Given the description of an element on the screen output the (x, y) to click on. 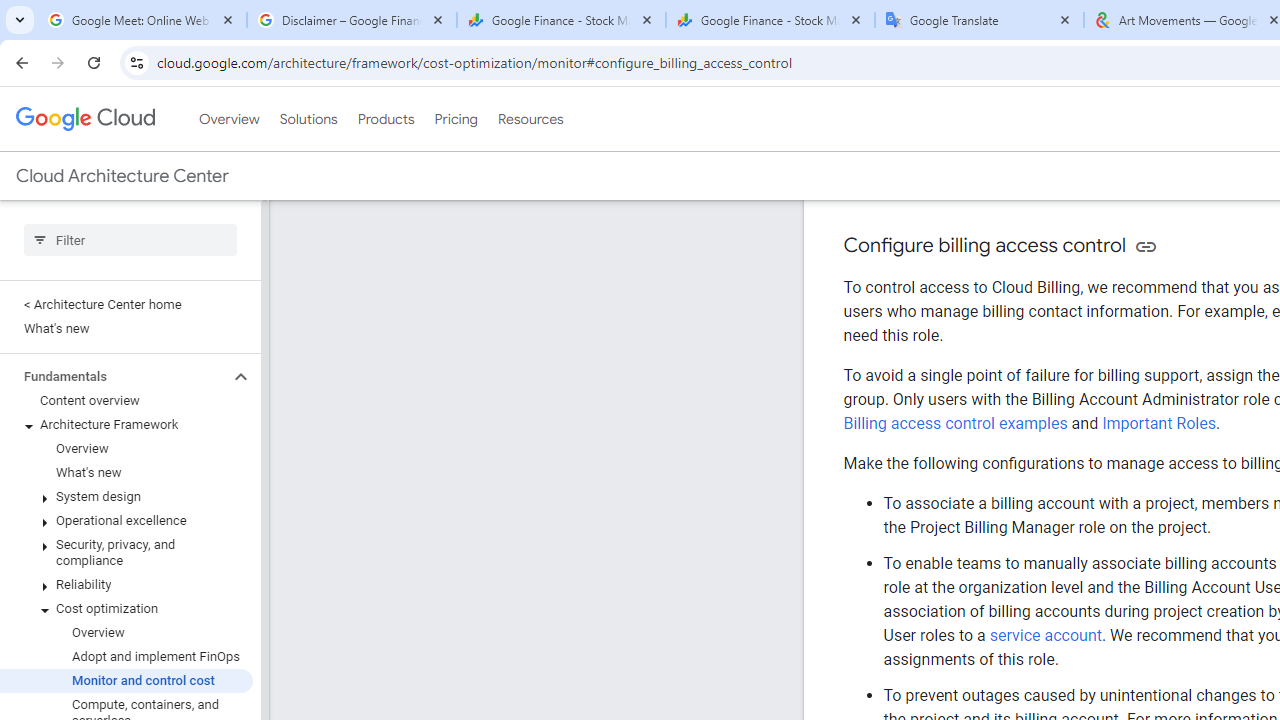
Architecture Framework (126, 425)
Cloud Architecture Center (122, 175)
Solutions (308, 119)
Type to filter (130, 239)
System design (126, 497)
Resources (530, 119)
Copy link to this section: Configure billing access control (1145, 246)
Pricing (455, 119)
Cost optimization (126, 608)
Content overview (126, 400)
Adopt and implement FinOps (126, 656)
